Given the description of an element on the screen output the (x, y) to click on. 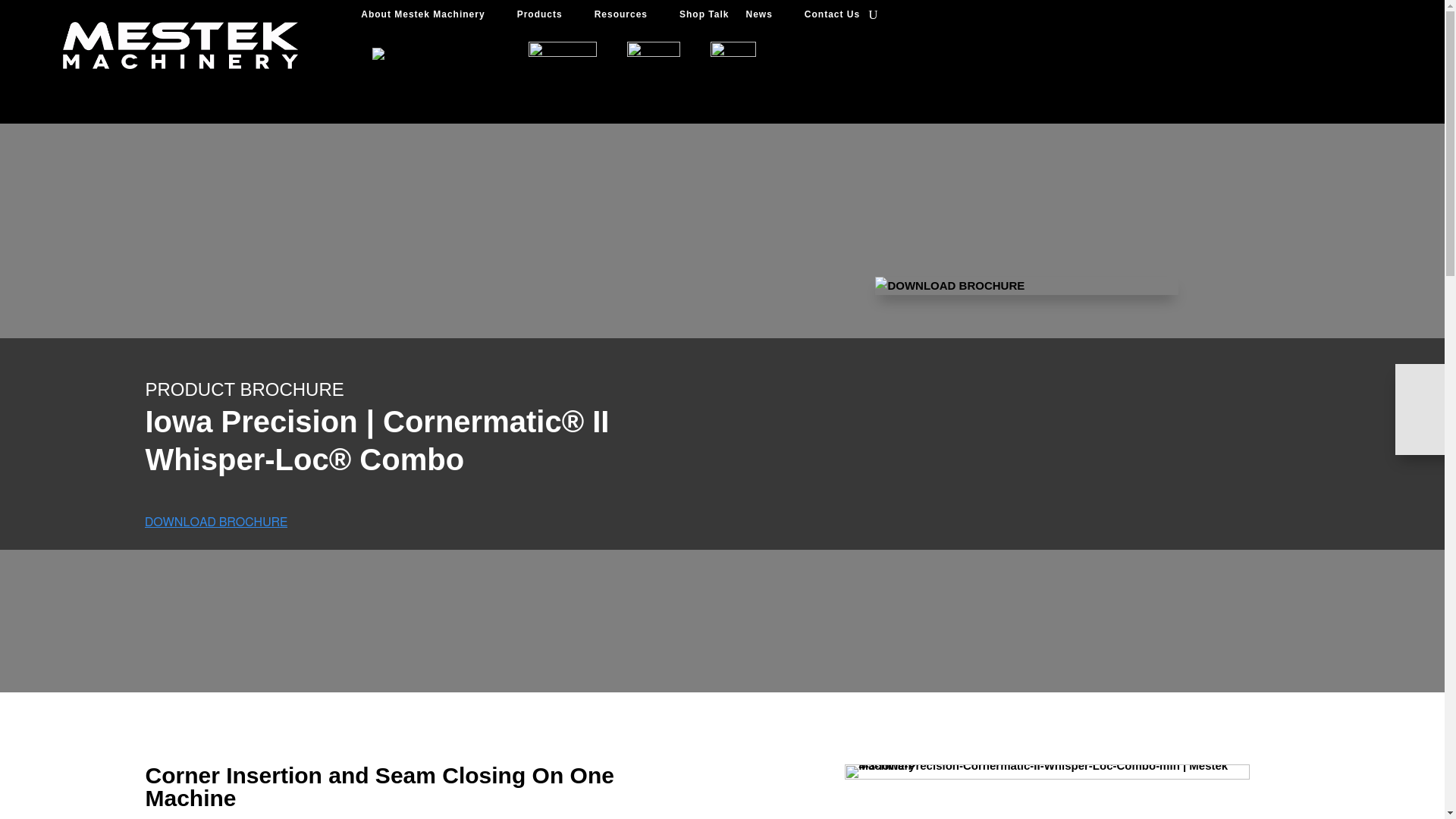
Shop Talk (704, 17)
Contact Us (832, 17)
About Mestek Machinery (430, 17)
News (766, 17)
Resources (628, 17)
MestekM (180, 45)
Products (547, 17)
